Given the description of an element on the screen output the (x, y) to click on. 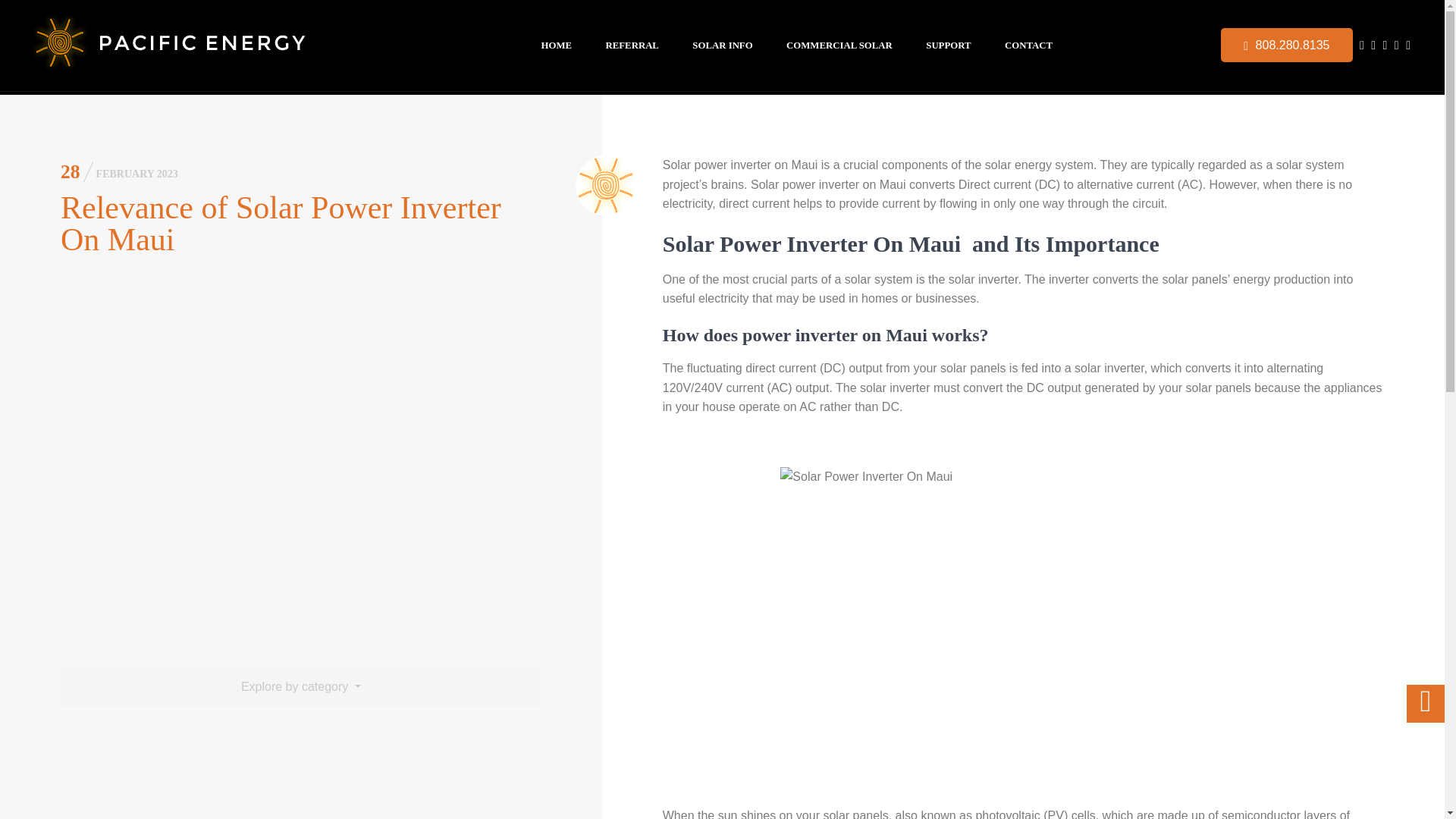
Maui Solar PV (202, 45)
REFERRAL (632, 45)
SOLAR INFO (722, 45)
HOME (556, 45)
